Given the description of an element on the screen output the (x, y) to click on. 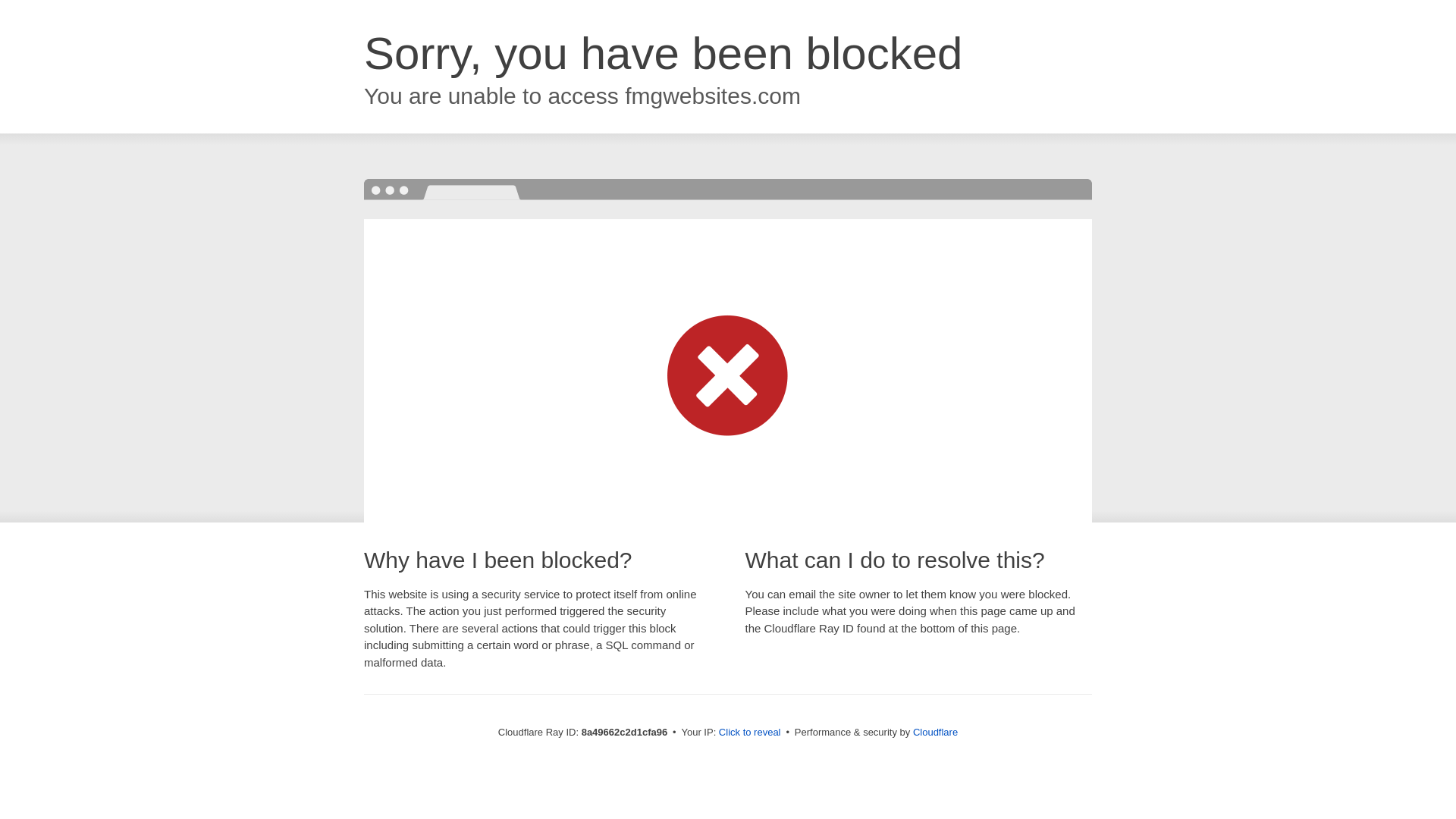
Click to reveal (749, 732)
Cloudflare (935, 731)
